Given the description of an element on the screen output the (x, y) to click on. 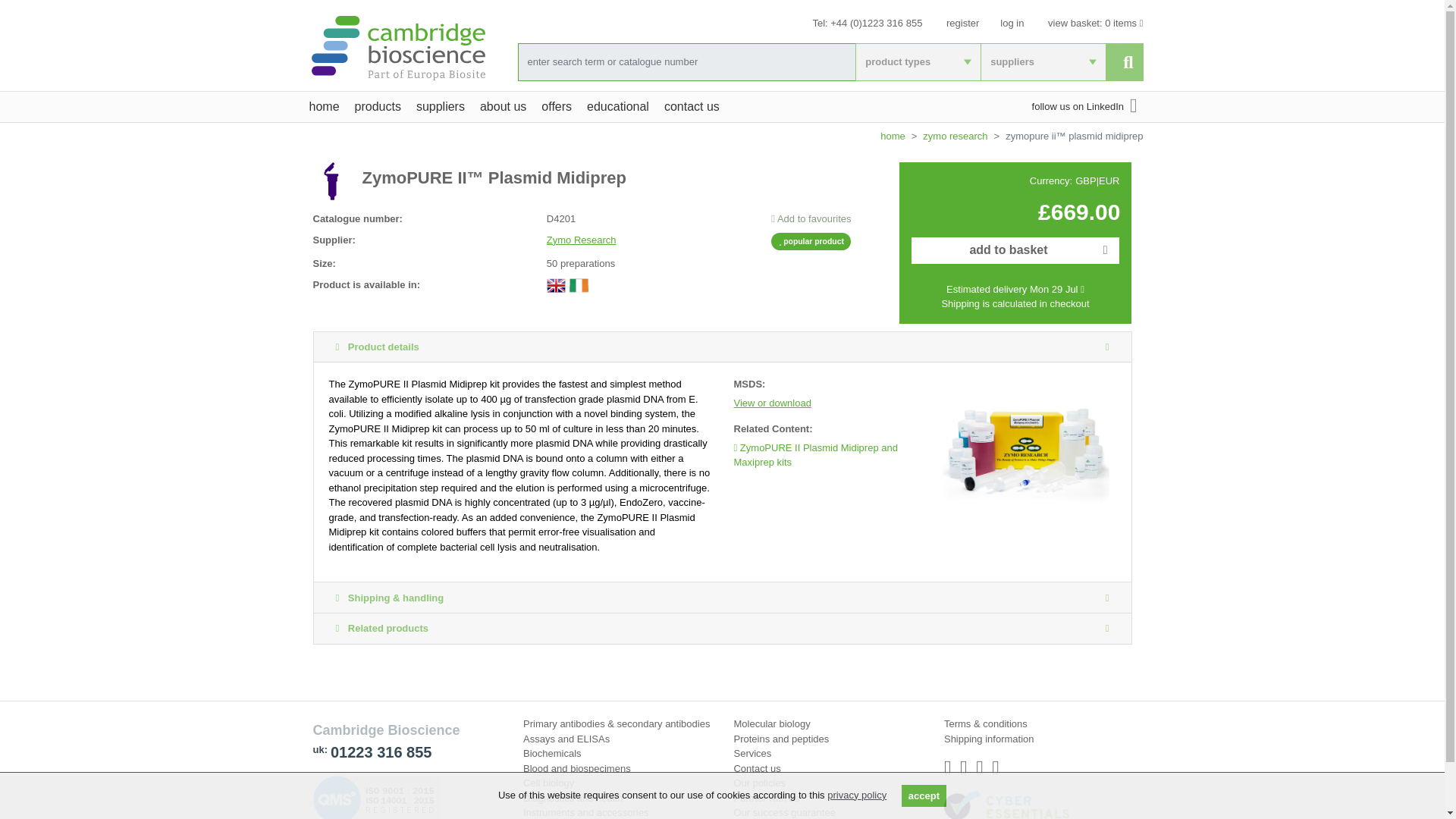
Price in Euros (1109, 180)
click to view larger size (1025, 449)
UK: product is available (556, 285)
register (962, 22)
log in (1011, 22)
Price in Pound Sterling (1087, 180)
view basket: 0 items (1095, 22)
Ireland: product is available (578, 285)
suppliers (1042, 61)
product types (917, 61)
Add this product to your list of favourites (810, 218)
